Given the description of an element on the screen output the (x, y) to click on. 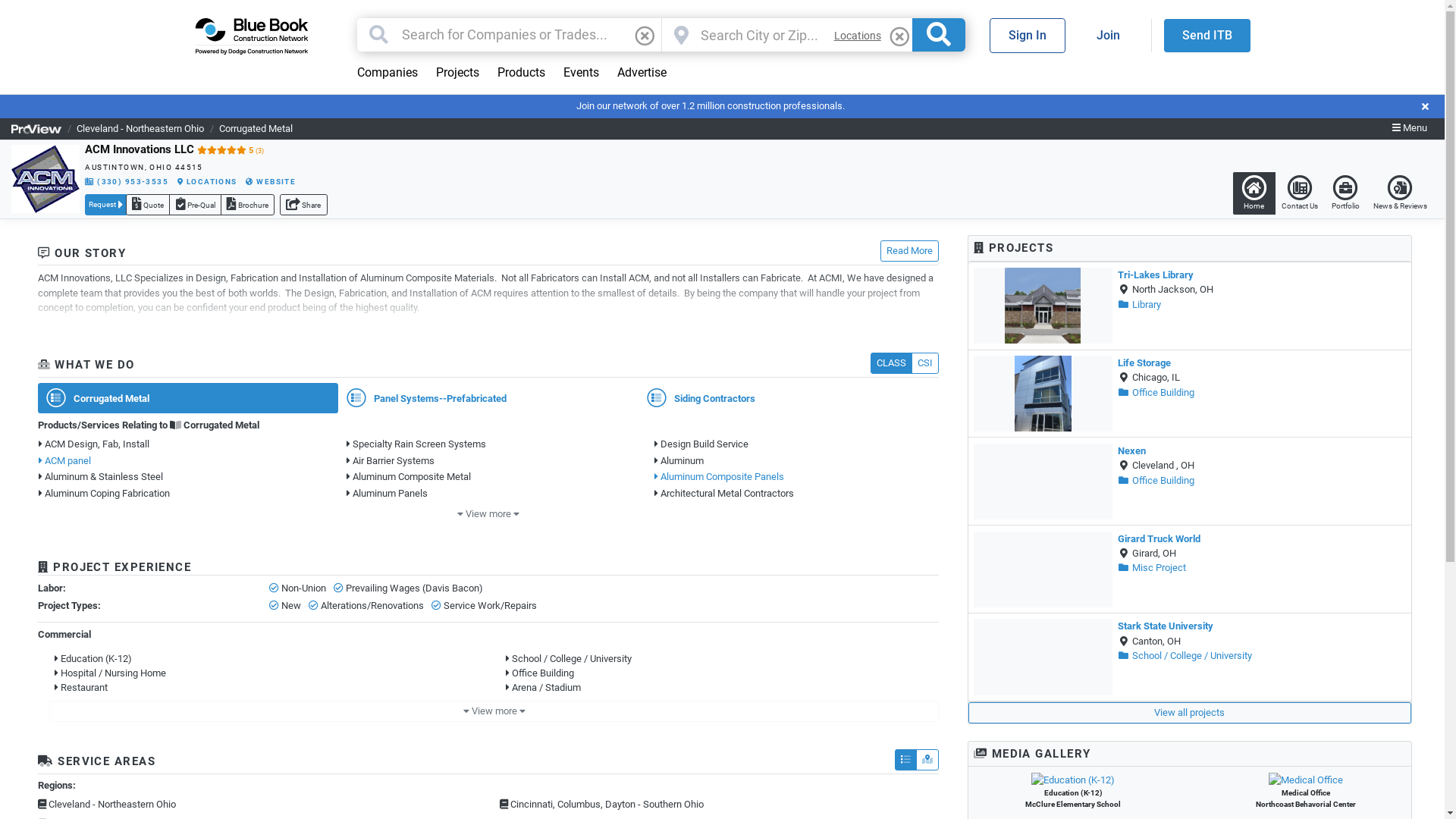
View all projects Element type: text (1189, 712)
Contact Us Element type: text (1299, 193)
Nexen Element type: text (1131, 450)
CSI Element type: text (924, 362)
School / College / University Element type: text (571, 658)
Cleveland - Northeastern Ohio Element type: text (139, 128)
Girard Truck World Element type: text (1158, 538)
Products Element type: text (521, 72)
Share Element type: text (302, 204)
ACM panel Element type: text (180, 460)
Menu Element type: text (1409, 128)
Life Storage Element type: text (1143, 362)
Sign In Element type: text (1026, 35)
Restaurant Element type: text (83, 687)
Learn more about ProView Element type: hover (36, 128)
Search City or Zip... Element type: hover (760, 34)
Join Element type: text (1107, 35)
View more Element type: text (494, 710)
Library Element type: text (1139, 304)
CLASS Element type: text (891, 362)
Stark State University Element type: text (1165, 625)
Siding Contractors Element type: text (788, 397)
ACM Innovations LLC ProView Element type: hover (45, 178)
View Project Element type: hover (1042, 569)
Education (K-12) Element type: hover (1073, 779)
Aluminum Composite Panels Element type: text (796, 476)
Misc Project Element type: text (1151, 567)
Send ITB Element type: text (1206, 35)
LOCATIONS Element type: text (207, 181)
Office Building Element type: text (1155, 392)
Education (K-12) Element type: text (95, 658)
Corrugated Metal Element type: text (255, 128)
Office Building Element type: text (542, 672)
School / College / University Element type: text (1184, 655)
Quote Element type: text (147, 204)
Tri-Lakes Library Element type: text (1155, 274)
Pre-Qual Element type: text (194, 204)
WEBSITE Element type: text (270, 181)
Corrugated Metal Element type: text (214, 424)
Arena / Stadium Element type: text (545, 687)
Corrugated Metal Element type: text (187, 397)
5 (3) Element type: text (230, 149)
View Project Element type: hover (1042, 656)
Events Element type: text (580, 72)
View more Element type: text (488, 514)
View Project Element type: hover (1042, 481)
News & Reviews Element type: text (1400, 193)
Portfolio Element type: text (1345, 193)
Projects Element type: text (456, 72)
Office Building Element type: text (1155, 480)
Hospital / Nursing Home Element type: text (112, 672)
Medical Office Element type: hover (1306, 779)
Panel Systems--Prefabricated Element type: text (488, 397)
(330) 953-3535 Element type: text (126, 181)
Brochure Element type: text (247, 204)
View Project Element type: hover (1042, 305)
Advertise Element type: text (641, 72)
Home Element type: text (1254, 193)
View Project Element type: hover (1042, 393)
Companies Element type: text (386, 72)
Read More Element type: text (909, 250)
Locations Element type: text (857, 35)
